Given the description of an element on the screen output the (x, y) to click on. 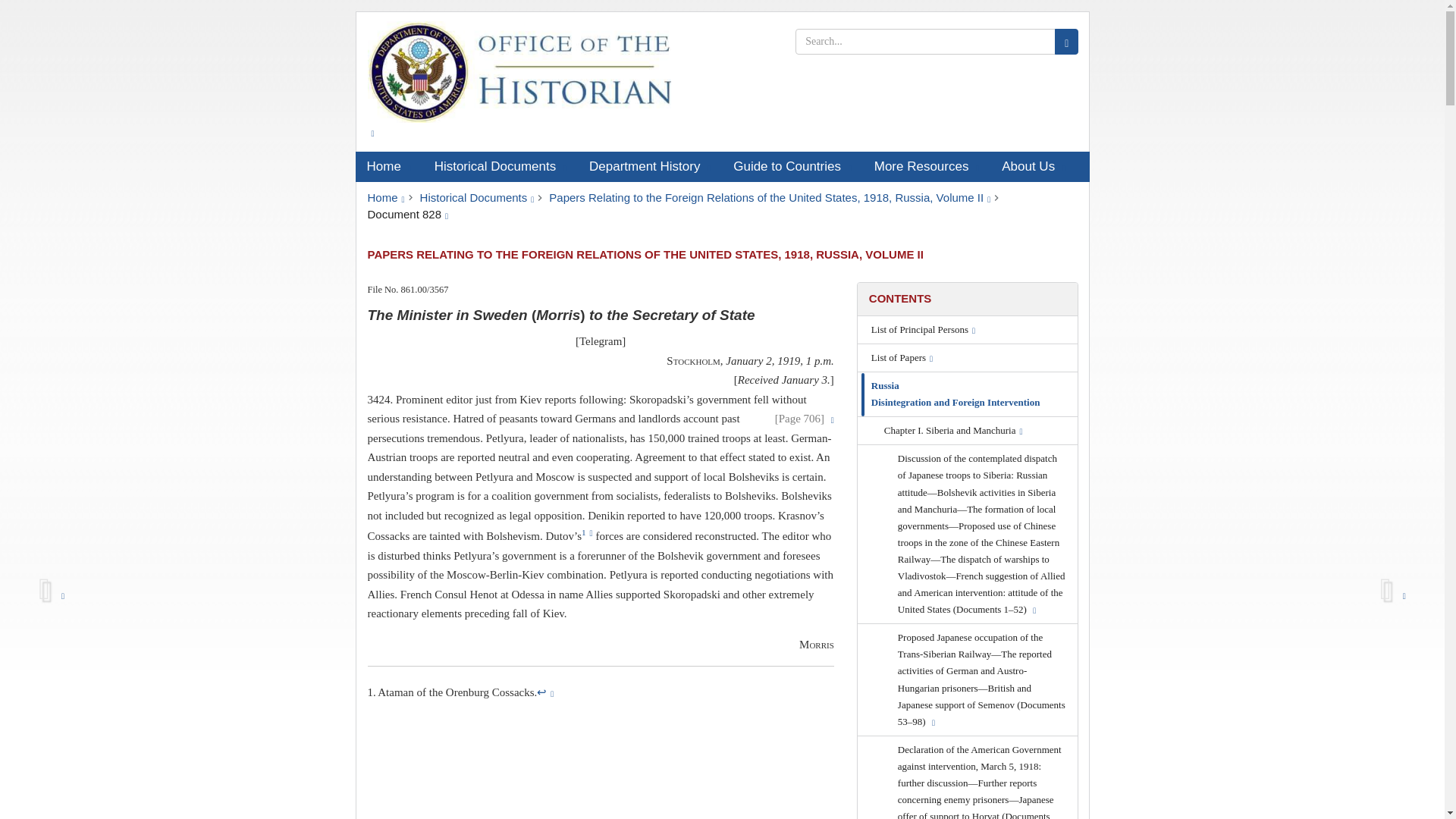
Home (385, 196)
About Us (1033, 166)
Guide to Countries (792, 166)
Document 828 (407, 214)
Historical Documents (477, 196)
More Resources (926, 166)
Department History (650, 166)
Home (388, 166)
Historical Documents (500, 166)
